Given the description of an element on the screen output the (x, y) to click on. 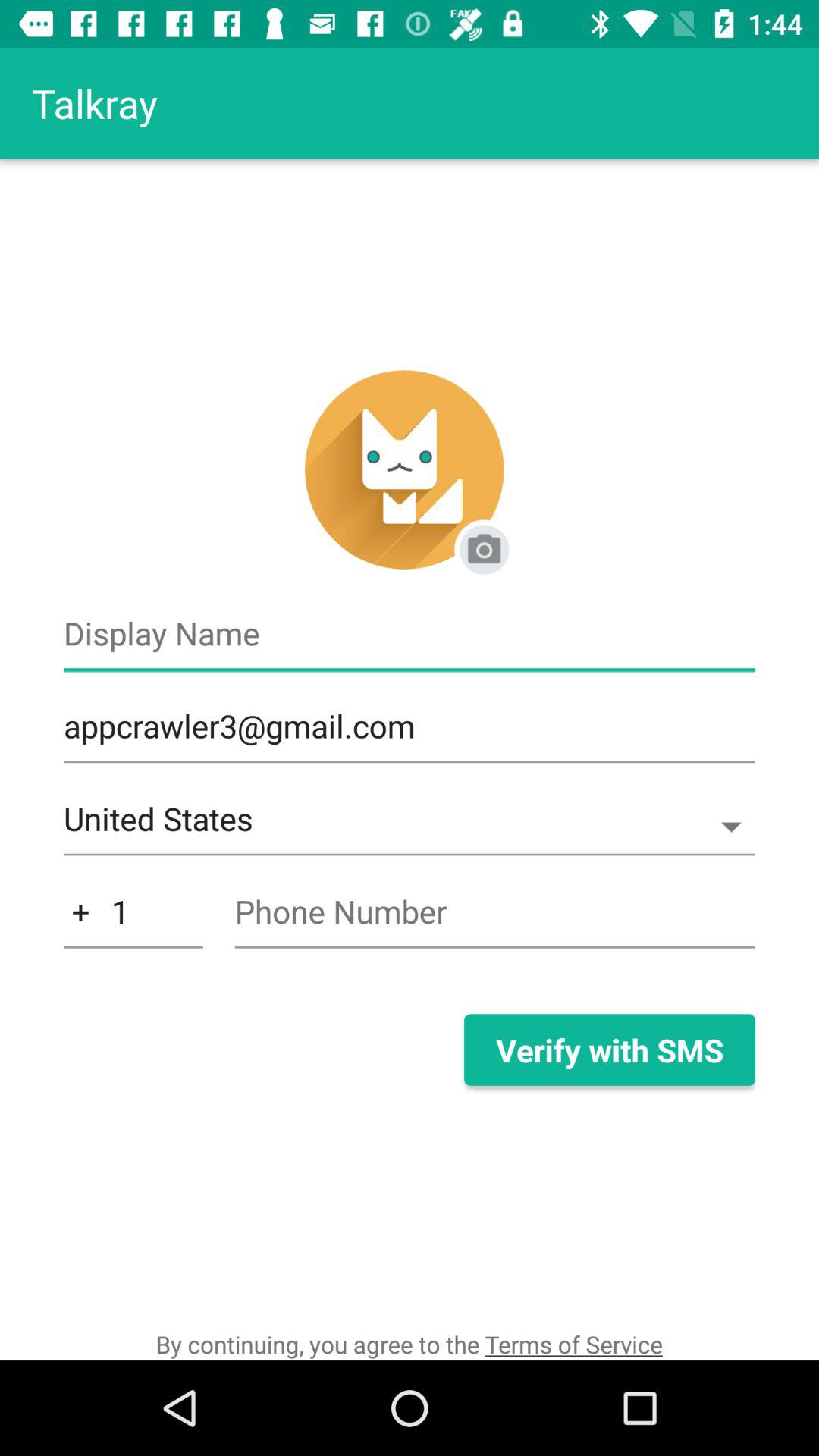
choose verify with sms item (609, 1049)
